Given the description of an element on the screen output the (x, y) to click on. 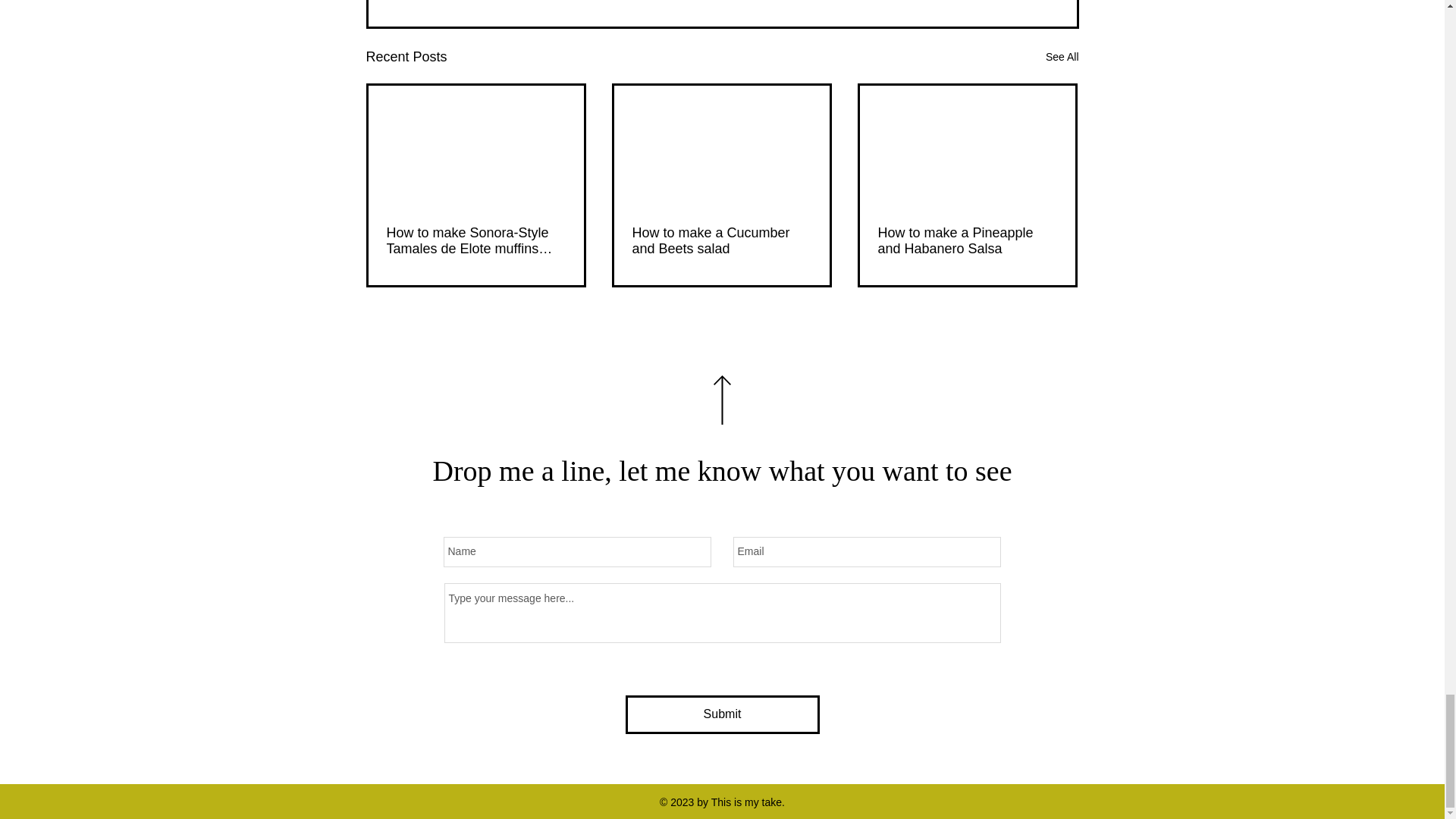
How to make a Cucumber and Beets salad (720, 241)
See All (1061, 56)
